Given the description of an element on the screen output the (x, y) to click on. 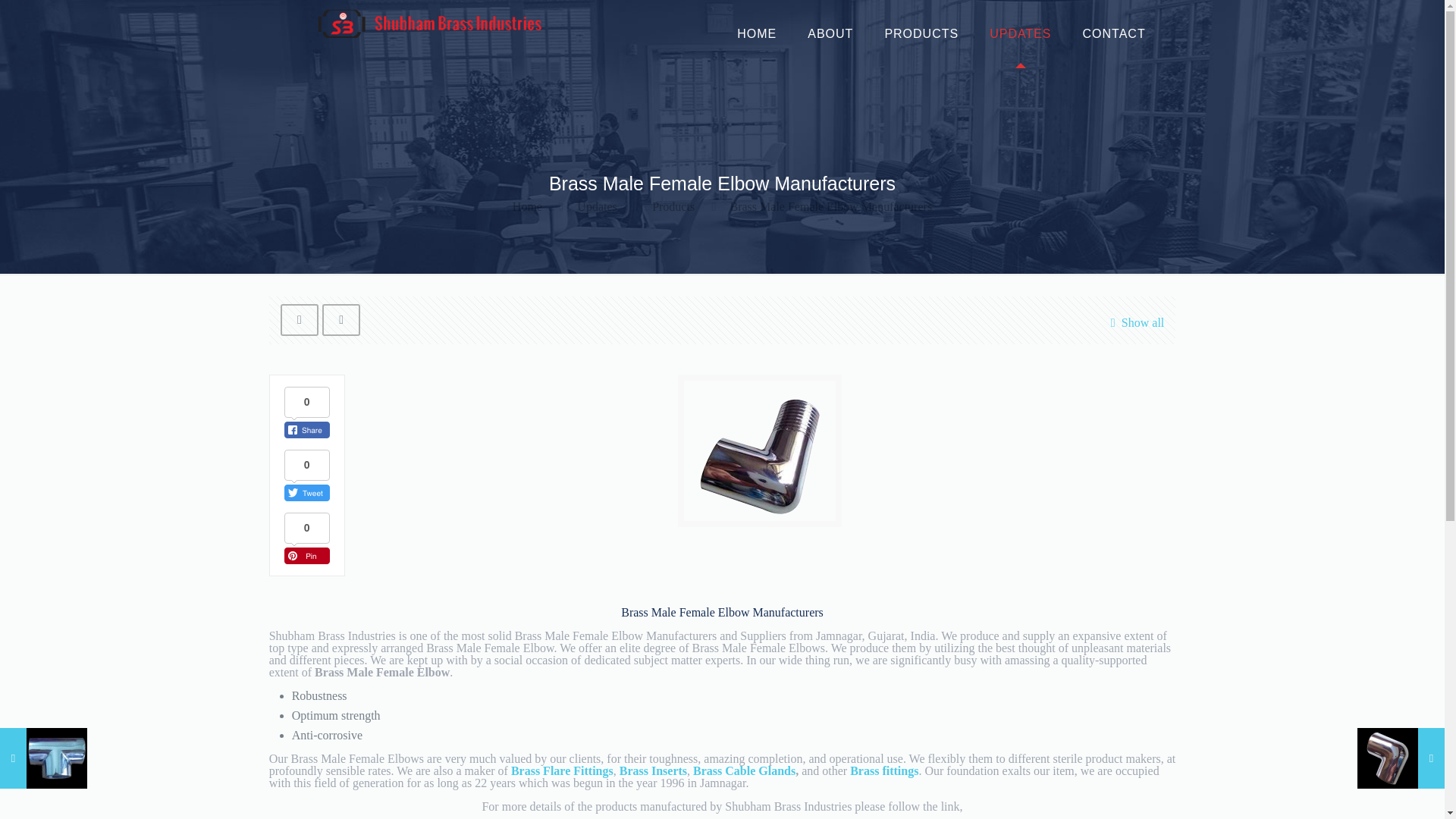
HOME (757, 33)
Brass Flare Fittings (561, 770)
CONTACT (1113, 33)
Products (673, 205)
Brass fittings (884, 770)
Brass Inserts (653, 770)
Home (526, 205)
ABOUT (830, 33)
UPDATES (1020, 33)
PRODUCTS (921, 33)
Brass Cable Glands (743, 770)
Updates (595, 205)
Show all (1133, 322)
Shubham Brass Industries (429, 22)
